Given the description of an element on the screen output the (x, y) to click on. 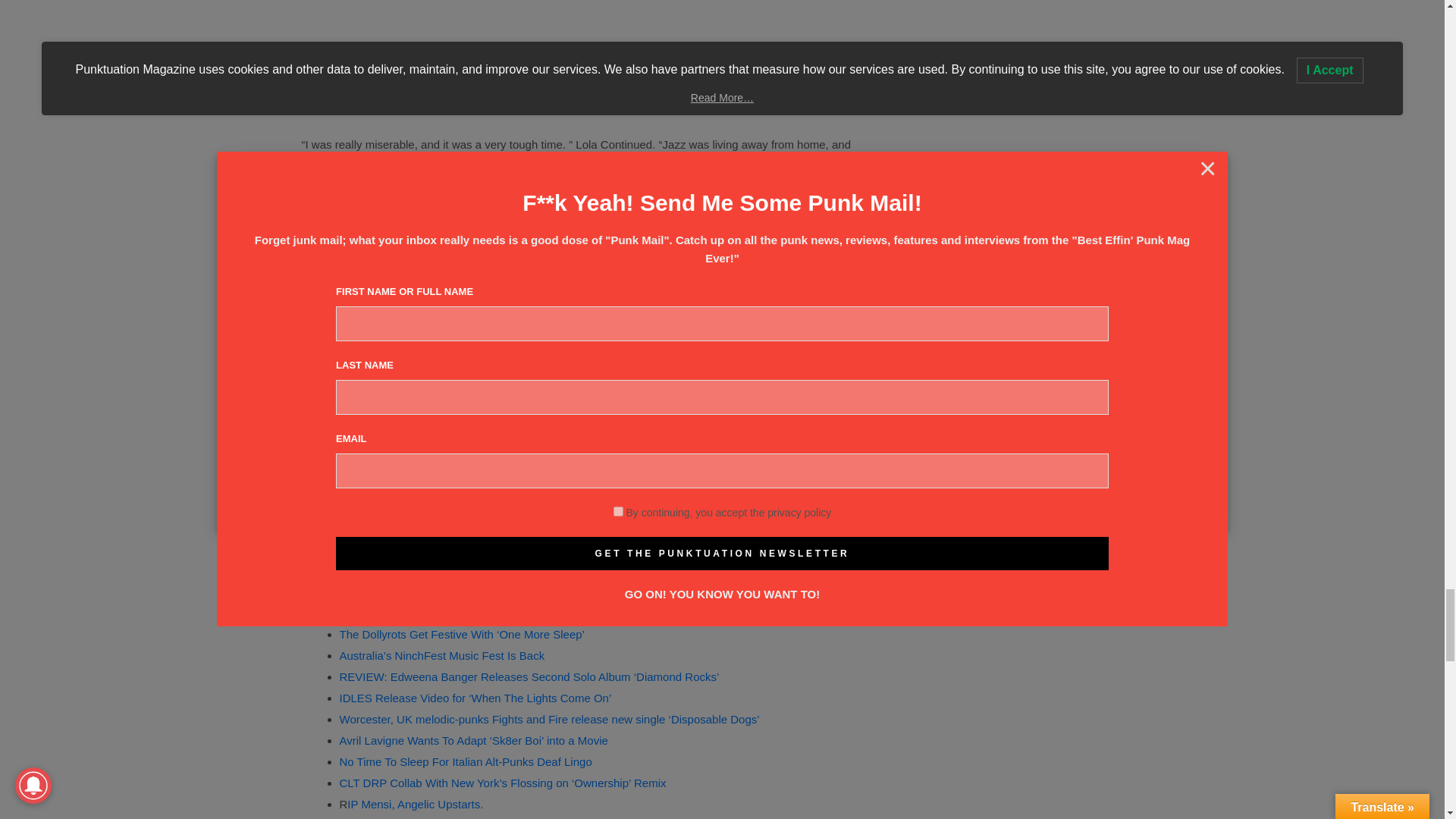
No Time To Sleep For Italian Alt-Punks Deaf Lingo (465, 761)
IP Mensi, Angelic Upstarts. (415, 803)
